Given the description of an element on the screen output the (x, y) to click on. 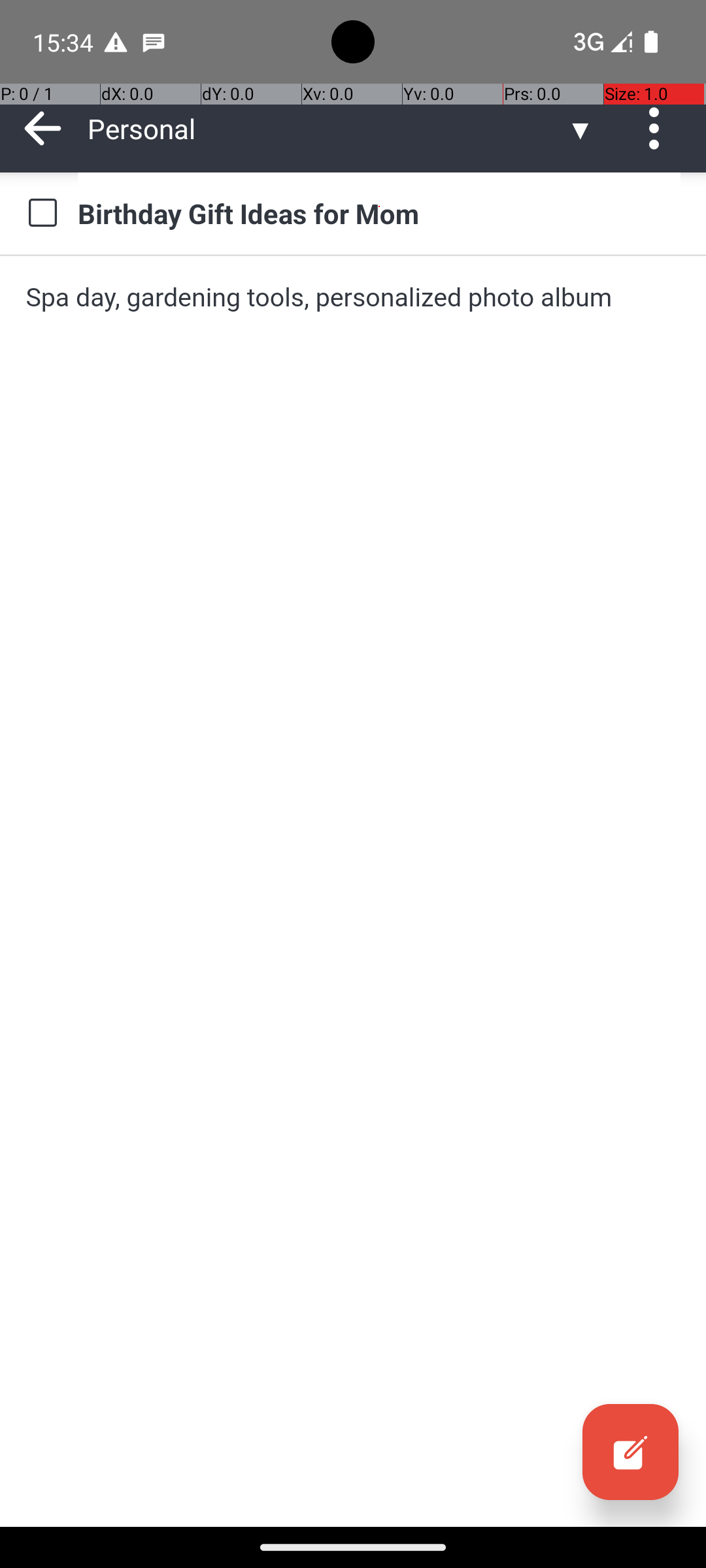
Birthday Gift Ideas for Mom Element type: android.widget.EditText (378, 213)
Personal Element type: android.widget.TextView (326, 128)
Spa day, gardening tools, personalized photo album Element type: android.widget.TextView (352, 296)
